Given the description of an element on the screen output the (x, y) to click on. 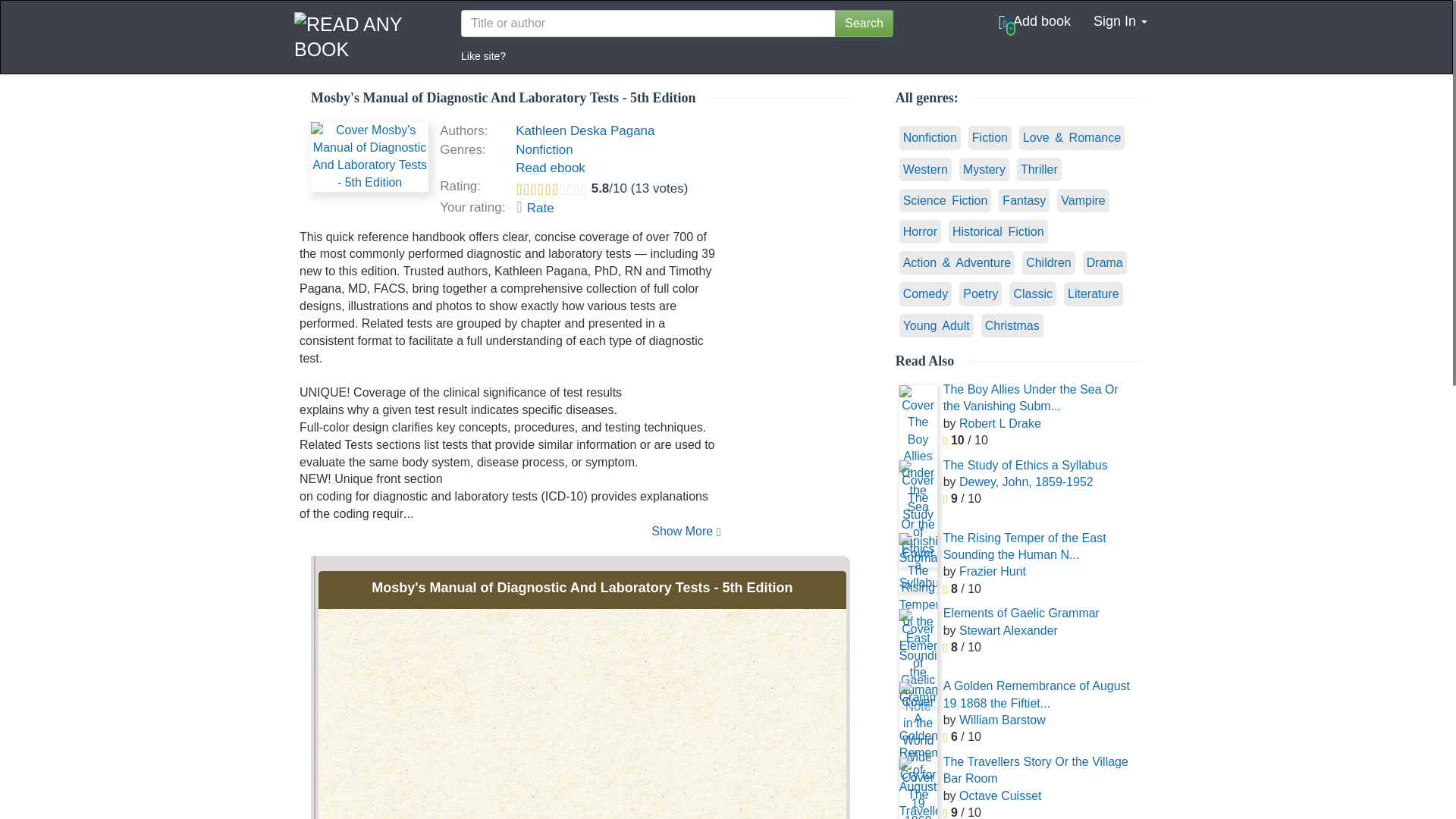
Add book (1034, 21)
Kathleen Deska Pagana (584, 130)
Rated ! (534, 208)
Nonfiction books (544, 149)
Author Kathleen Deska Pagana (584, 130)
Sign In (1119, 21)
Read ebook (550, 167)
Rate (534, 208)
Show More (509, 531)
